Given the description of an element on the screen output the (x, y) to click on. 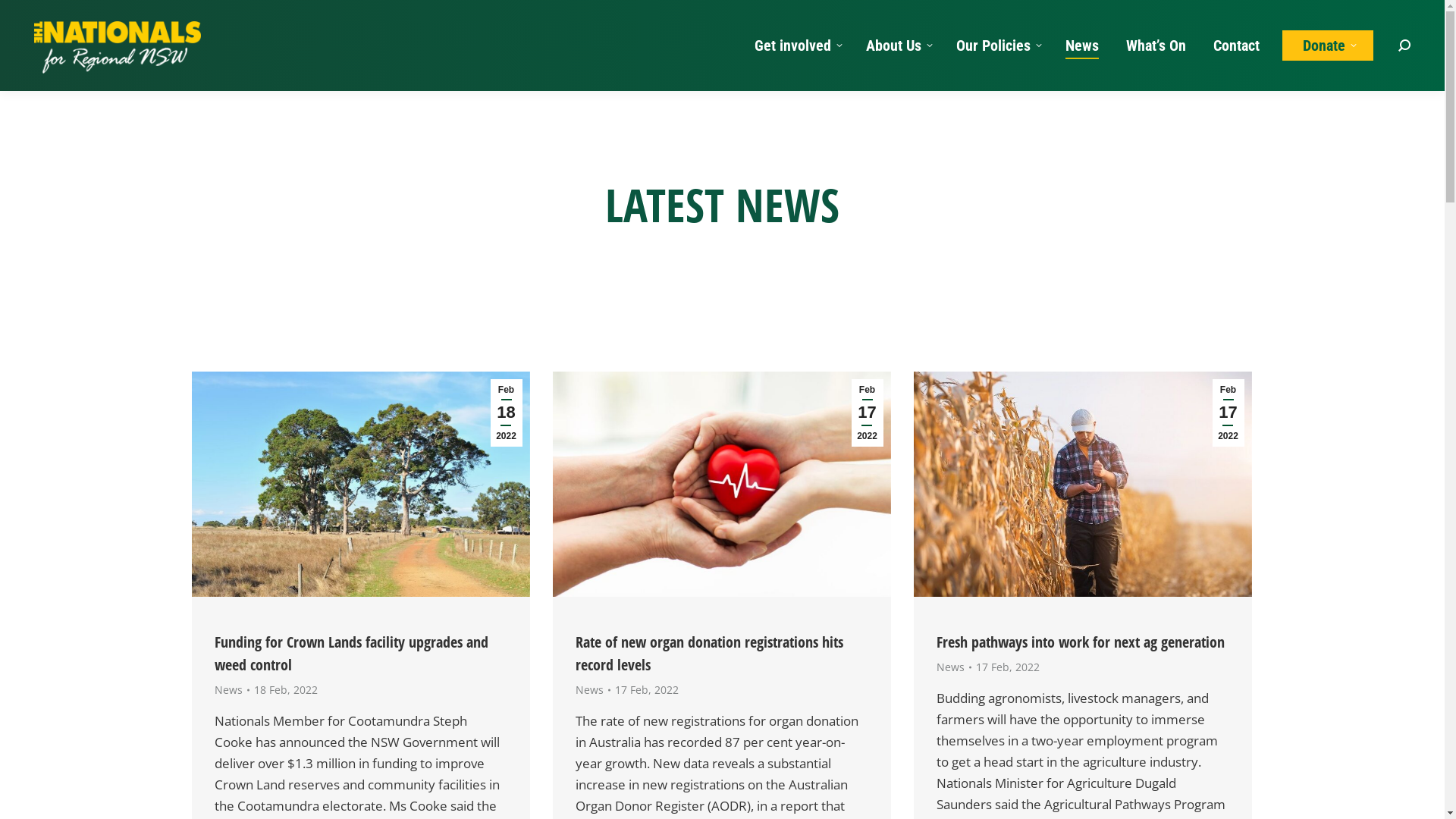
News Element type: text (588, 689)
Feb
18
2022 Element type: text (505, 412)
Funding for Crown Lands facility upgrades and weed control Element type: text (350, 652)
Get involved Element type: text (796, 45)
Contact Element type: text (1236, 45)
Organ donation Element type: hover (721, 483)
Donate Element type: text (1327, 45)
Rate of new organ donation registrations hits record levels Element type: text (708, 652)
About Us Element type: text (896, 45)
17 Feb, 2022 Element type: text (645, 689)
News Element type: text (1081, 45)
Fresh pathways into work for next ag generation Element type: text (1079, 641)
News Element type: text (949, 666)
Feb
17
2022 Element type: text (1227, 412)
Feb
17
2022 Element type: text (866, 412)
Gravel,Road,Leading,To,Brick,Outhouse,Past,Big,Gum,Trees Element type: hover (360, 483)
Go! Element type: text (23, 16)
17 Feb, 2022 Element type: text (1006, 666)
News Element type: text (227, 689)
Our Policies Element type: text (997, 45)
Farmer-wheat Element type: hover (1082, 483)
18 Feb, 2022 Element type: text (284, 689)
